Given the description of an element on the screen output the (x, y) to click on. 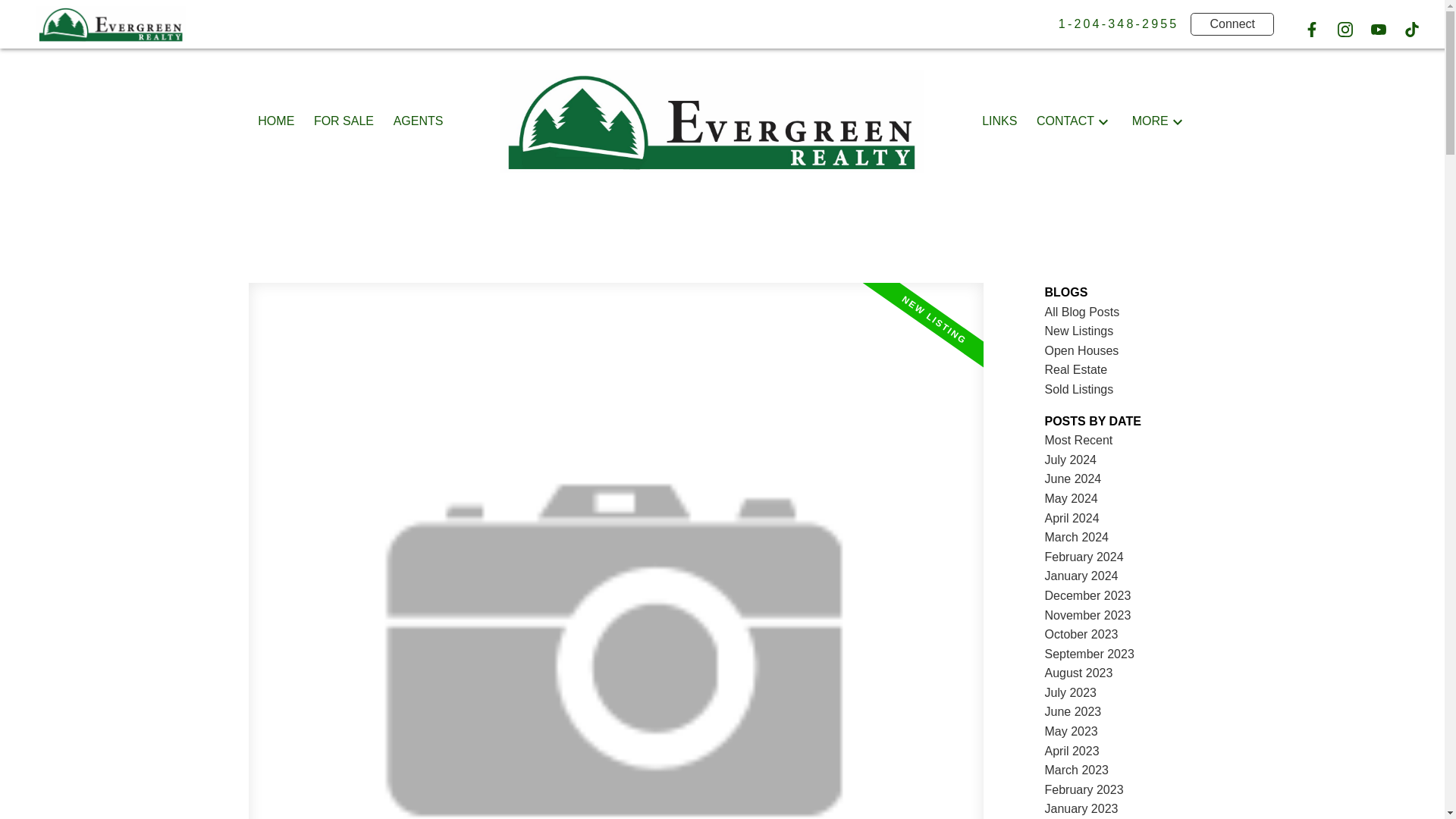
March 2024 (1077, 536)
All Blog Posts (1082, 311)
New Listings (1079, 330)
July 2024 (1071, 459)
CONTACT (1065, 121)
LINKS (998, 121)
Real Estate (1076, 369)
May 2024 (1071, 498)
June 2024 (1073, 478)
Open Houses (1082, 350)
Most Recent (1079, 440)
April 2024 (1072, 517)
January 2024 (1081, 575)
HOME (275, 121)
February 2024 (1084, 556)
